Given the description of an element on the screen output the (x, y) to click on. 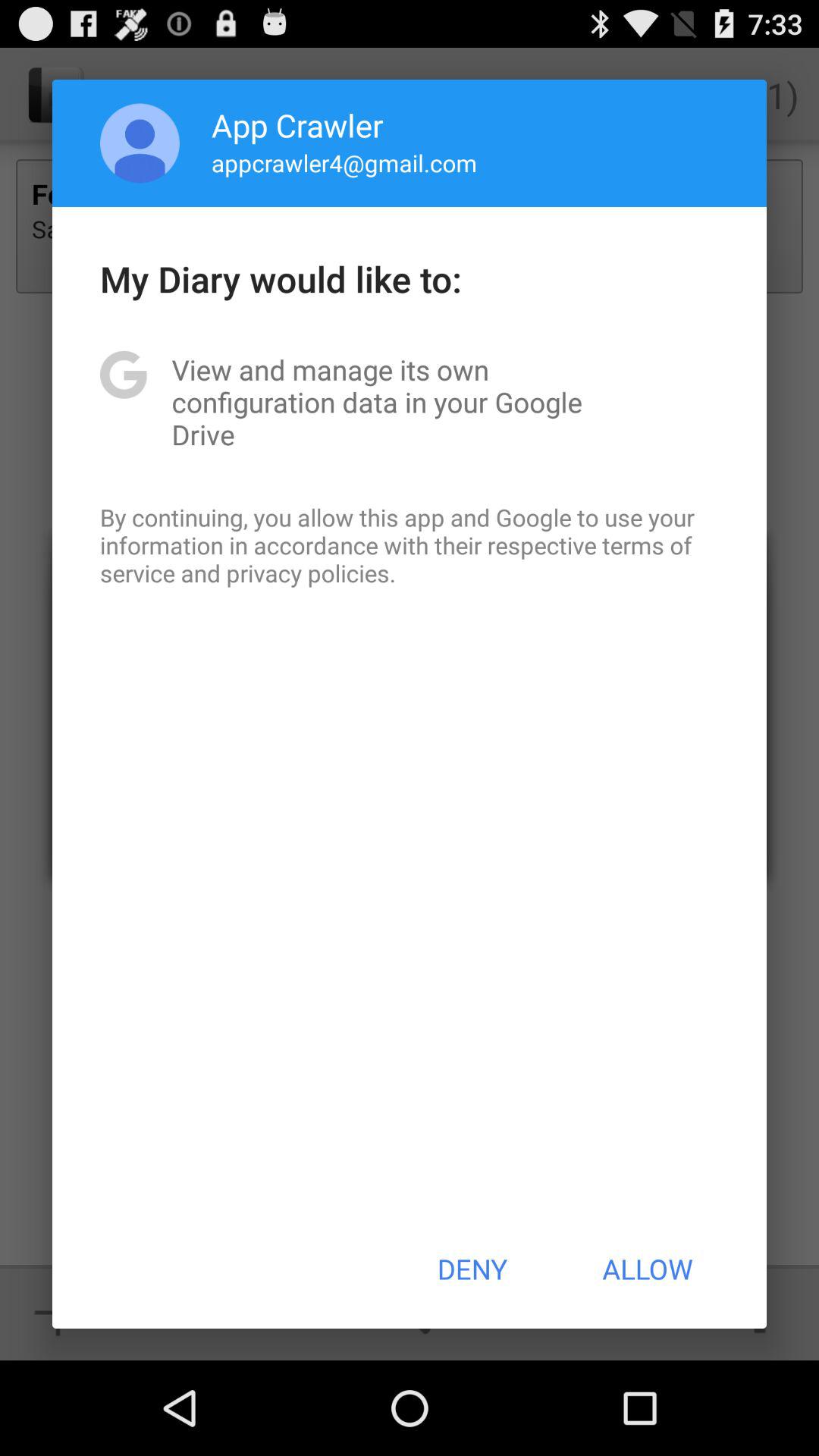
flip until view and manage (409, 401)
